Given the description of an element on the screen output the (x, y) to click on. 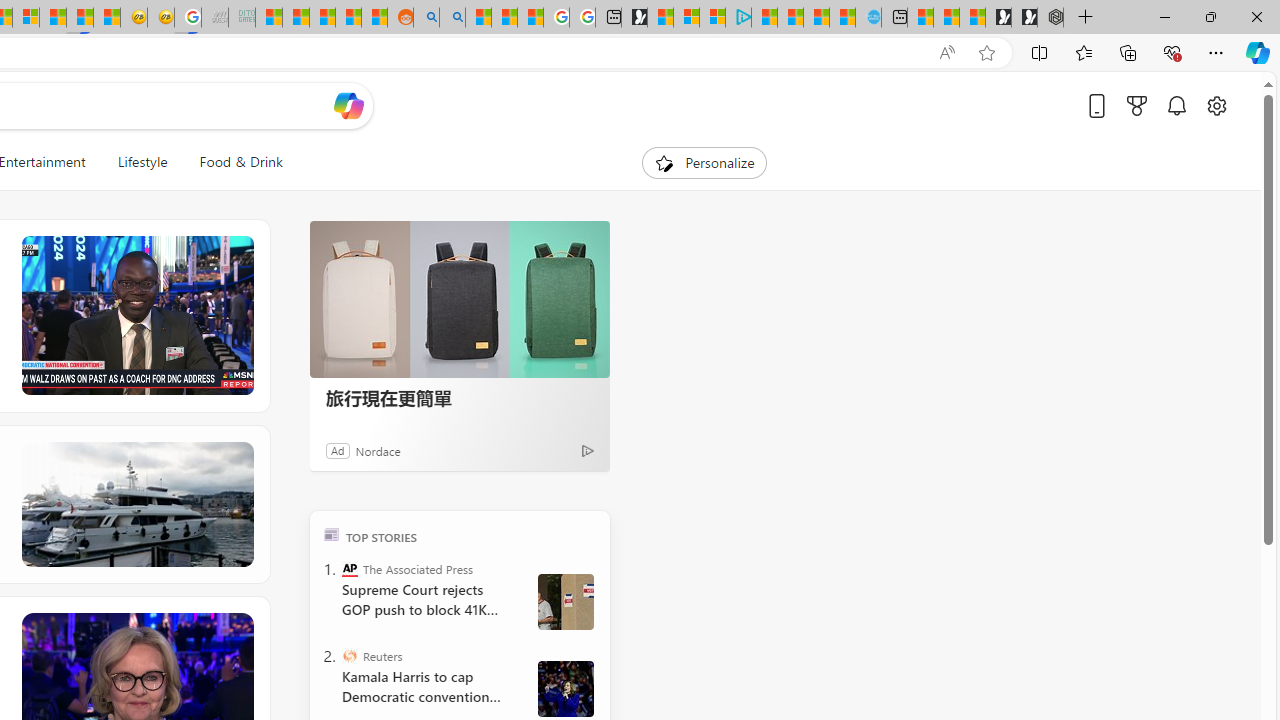
Fix Boat Bliss (136, 504)
